Given the description of an element on the screen output the (x, y) to click on. 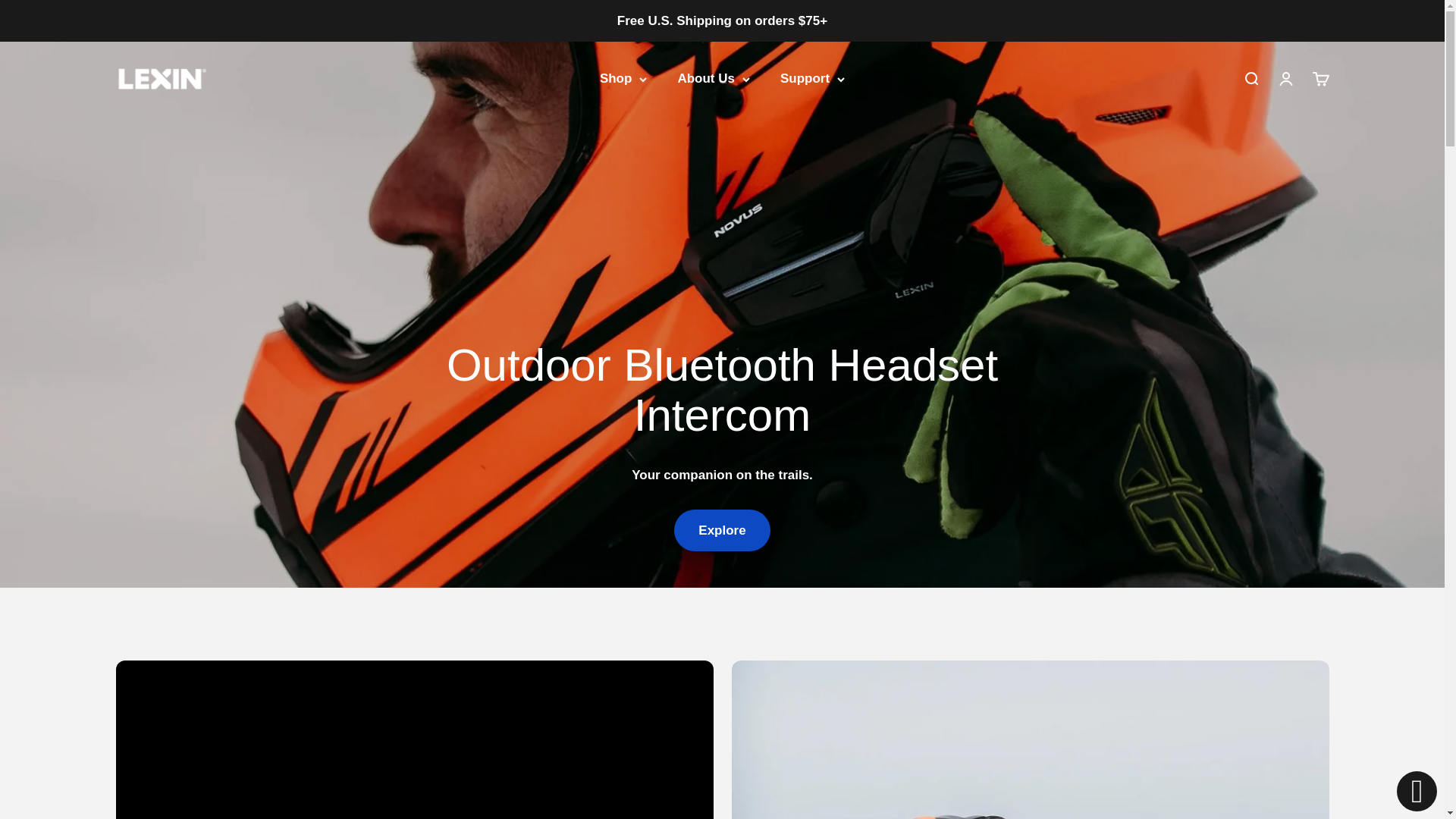
Shop (623, 78)
Abrir pesquisa (1319, 78)
Lexin Electronics (1250, 78)
Explore (160, 78)
